Given the description of an element on the screen output the (x, y) to click on. 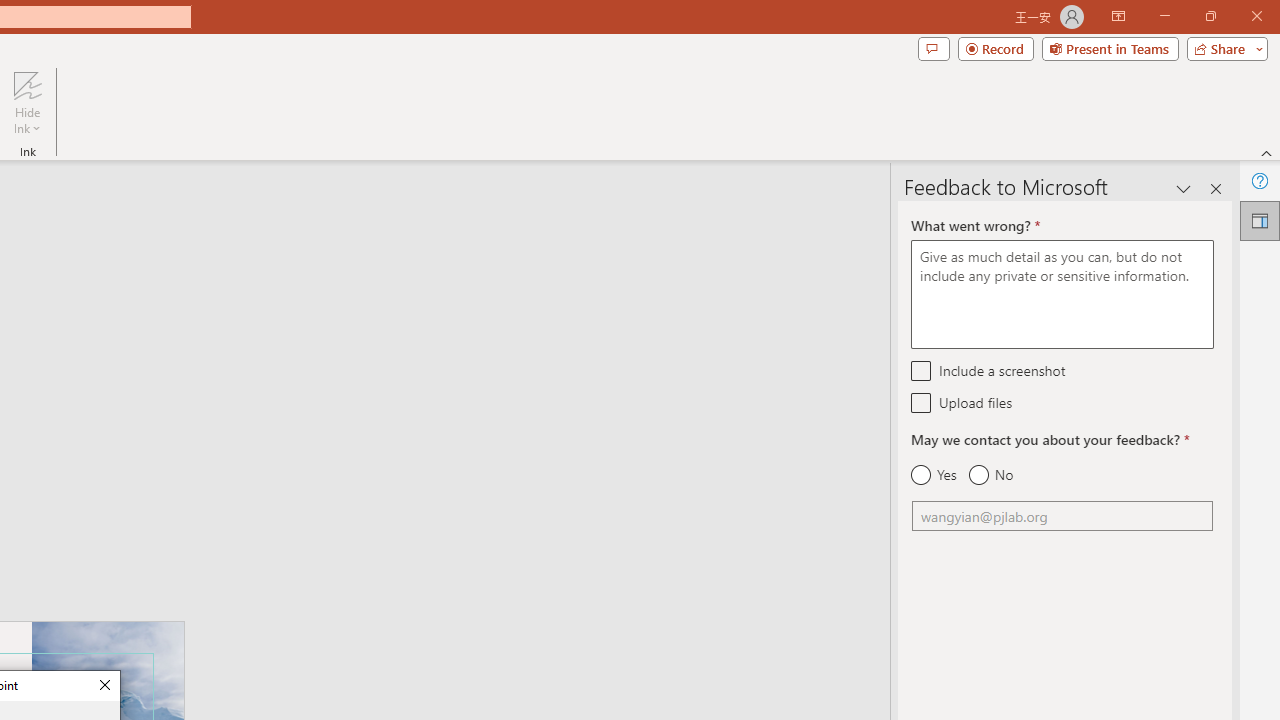
Feedback to Microsoft (1260, 220)
Hide Ink (27, 102)
Yes (934, 475)
Upload files (921, 402)
No (990, 475)
Email (1062, 516)
Hide Ink (27, 84)
Include a screenshot (921, 370)
